Given the description of an element on the screen output the (x, y) to click on. 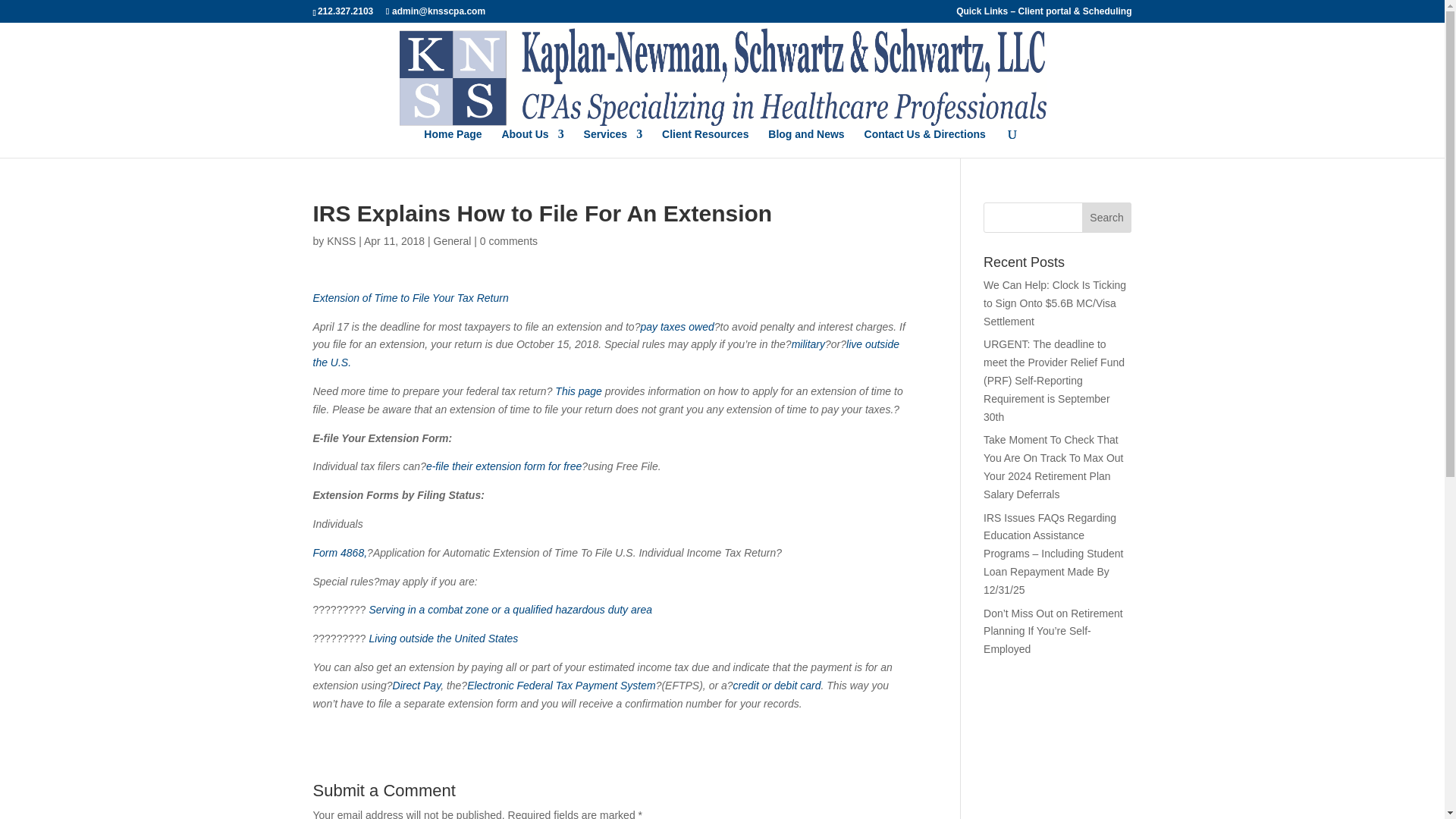
Electronic Federal Tax Payment System (561, 685)
e-file their extension form for free (503, 466)
KNSS (340, 241)
live outside the U.S. (606, 353)
Client Resources (705, 143)
Posts by KNSS (340, 241)
Home Page (452, 143)
About Us (531, 143)
0 comments (508, 241)
Extension of Time to File Your Tax Return (410, 297)
Services (613, 143)
pay taxes owed (676, 326)
credit or debit card (777, 685)
This page (577, 390)
military (808, 344)
